Given the description of an element on the screen output the (x, y) to click on. 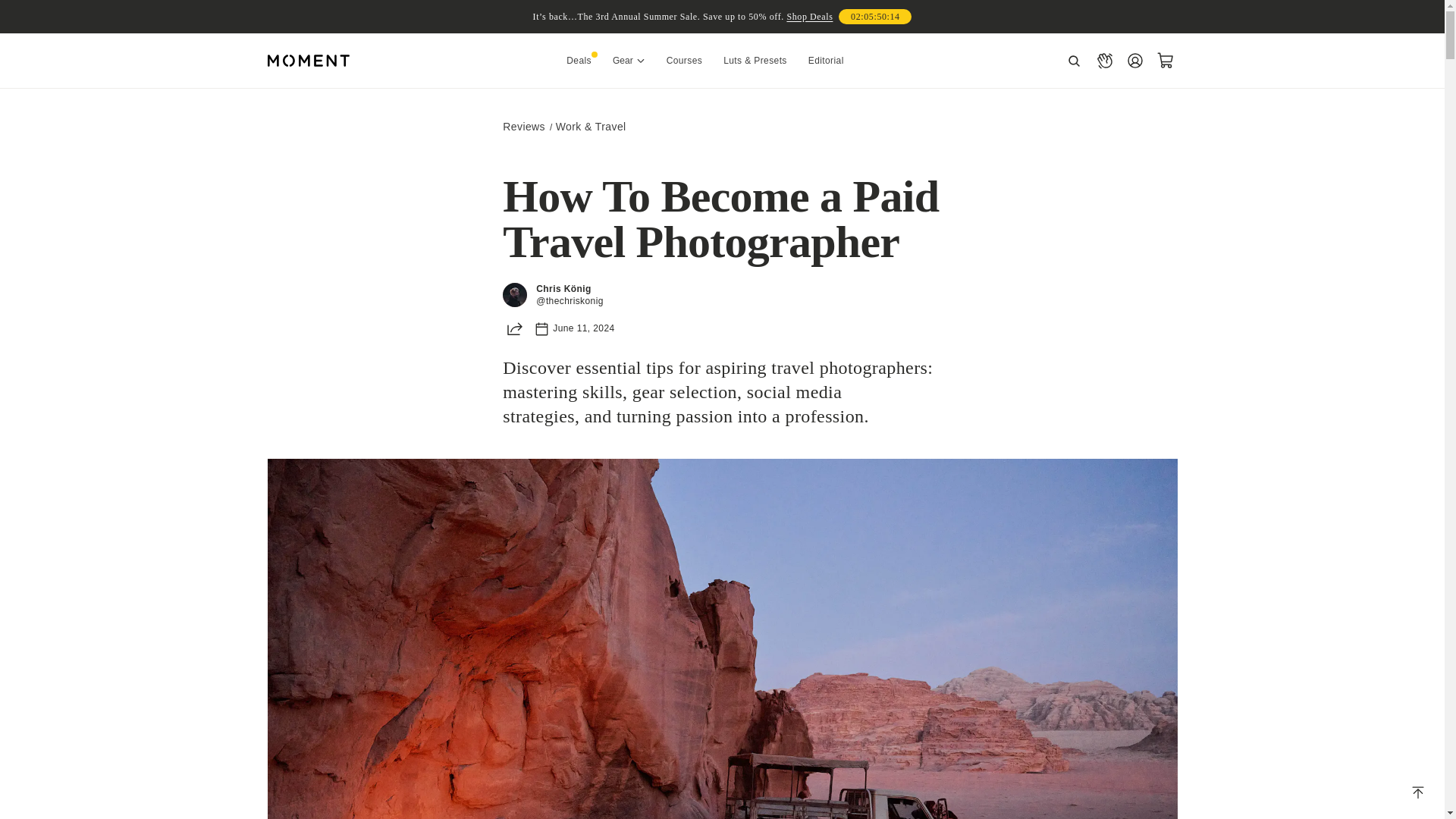
Share (514, 327)
Deals (578, 60)
Moment (307, 60)
Editorial (826, 60)
Cart: 0 items (1164, 60)
Connect (1104, 60)
Shop Deals (809, 16)
Reviews (523, 126)
Login (1134, 60)
Gear (628, 60)
Courses (684, 60)
Search (1073, 60)
